Given the description of an element on the screen output the (x, y) to click on. 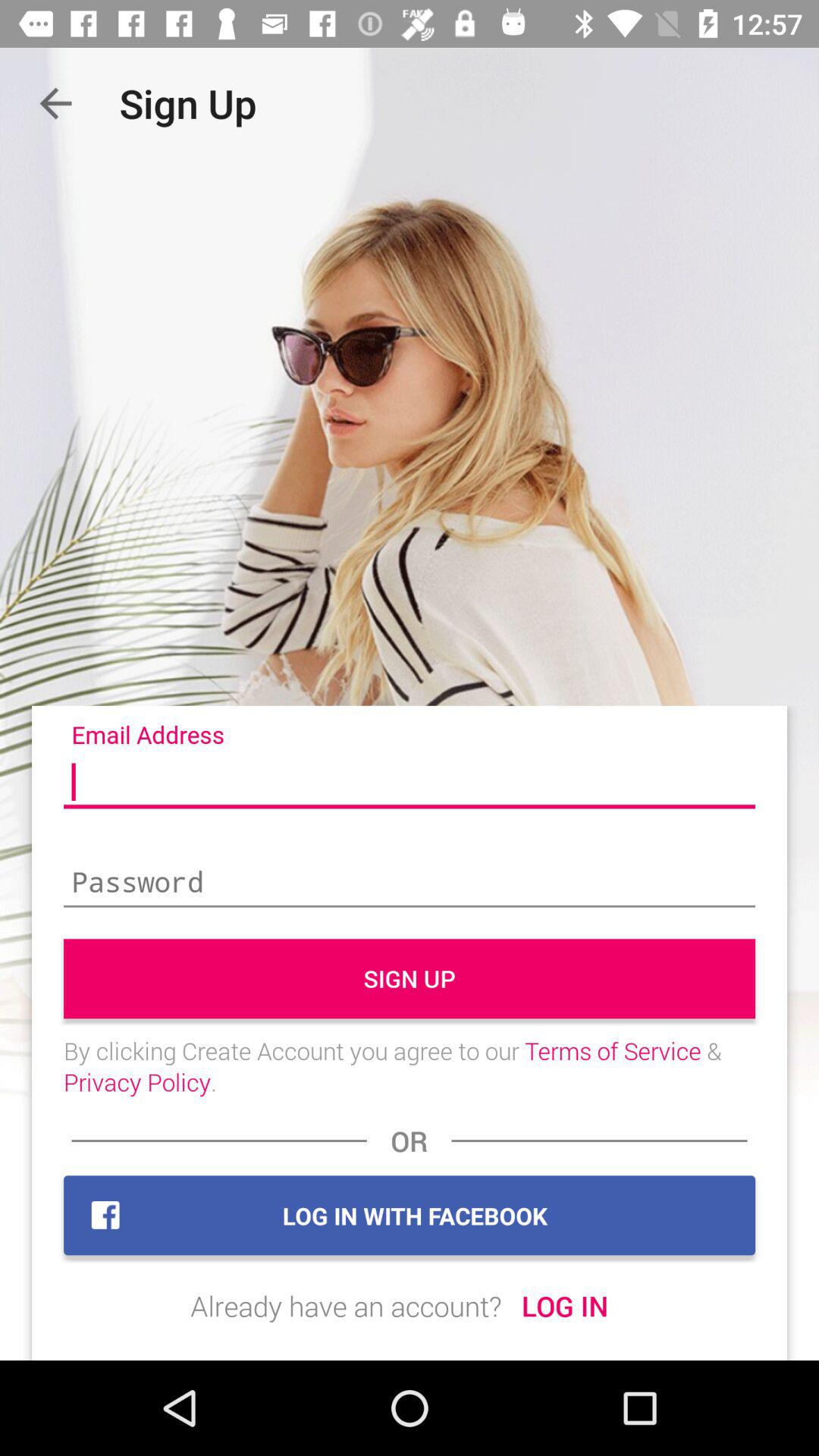
open item next to log in icon (345, 1305)
